Given the description of an element on the screen output the (x, y) to click on. 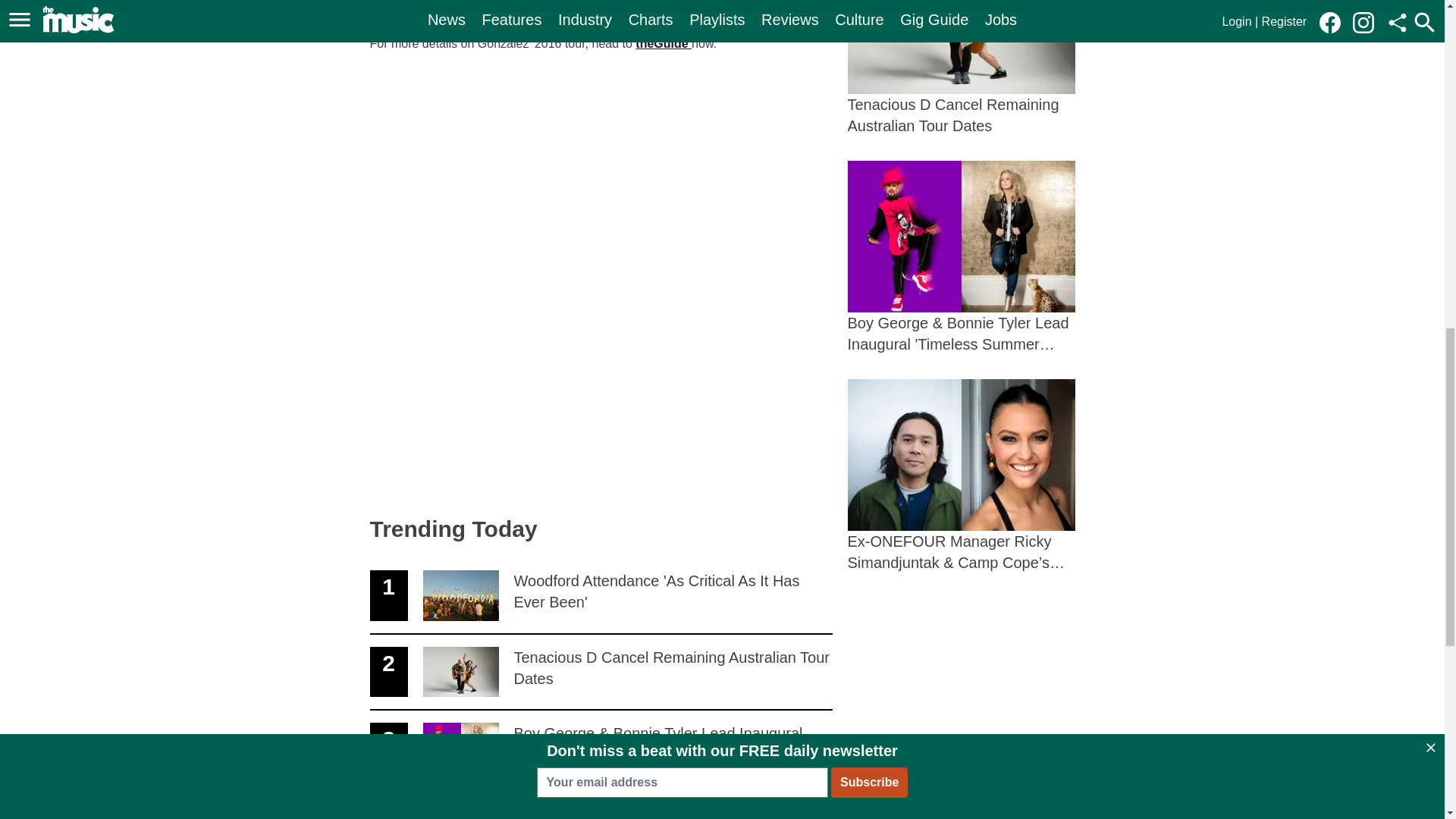
theGuide (600, 672)
Tenacious D Cancel Remaining Australian Tour Dates (662, 42)
